Given the description of an element on the screen output the (x, y) to click on. 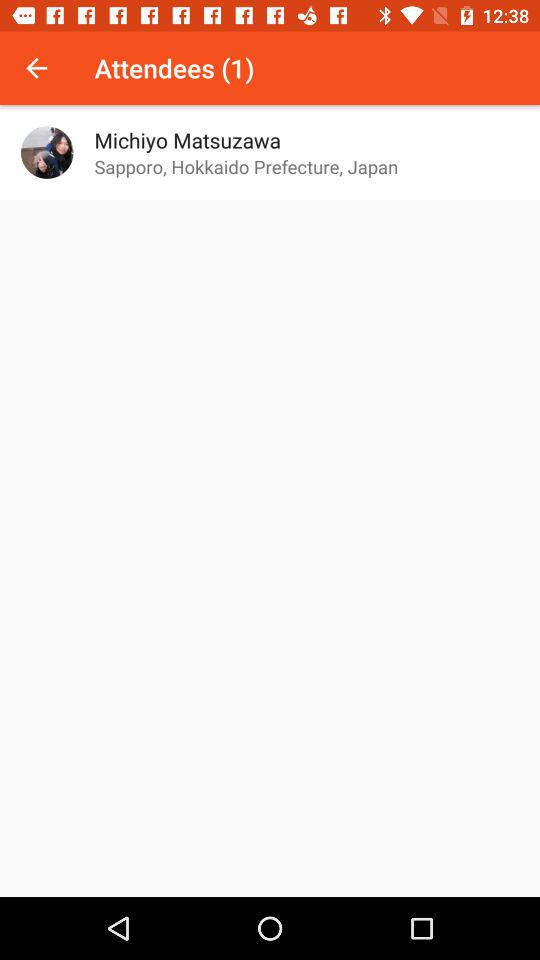
launch icon next to attendees (1) item (36, 68)
